Given the description of an element on the screen output the (x, y) to click on. 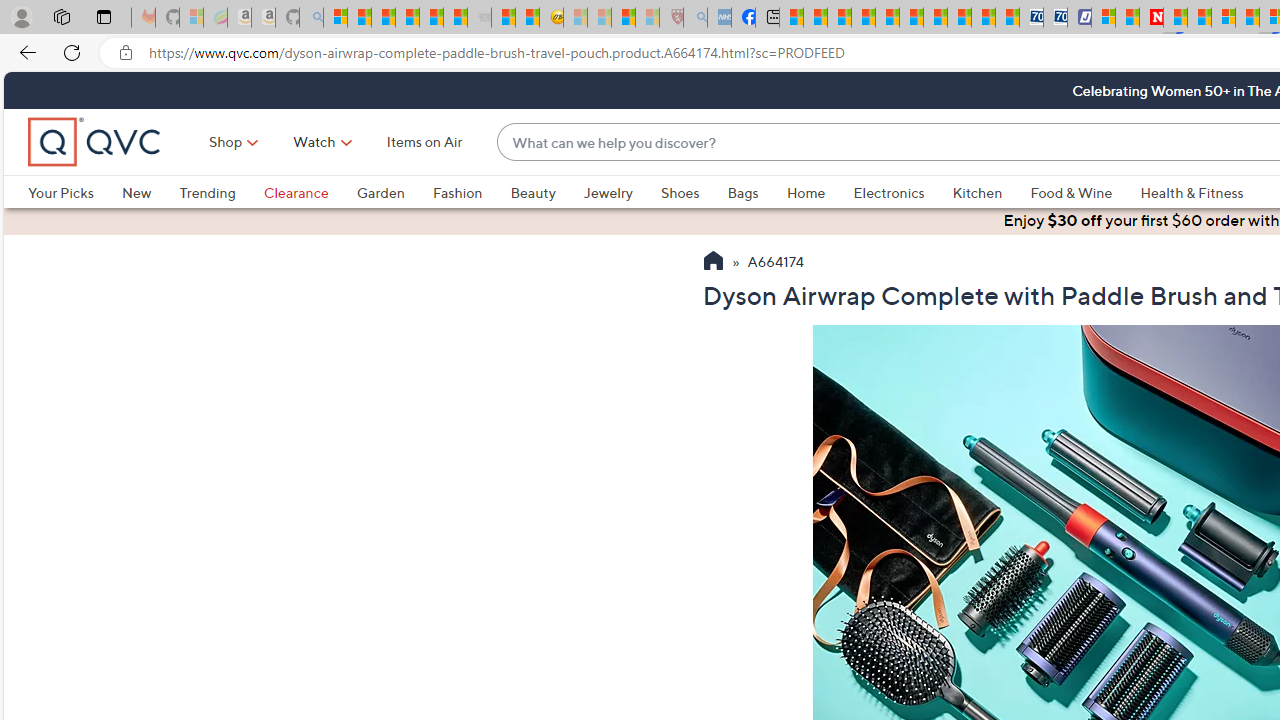
Garden (379, 192)
Latest Politics News & Archive | Newsweek.com (1151, 17)
Combat Siege - Sleeping (479, 17)
Your Picks (60, 192)
The Weather Channel - MSN (383, 17)
